Given the description of an element on the screen output the (x, y) to click on. 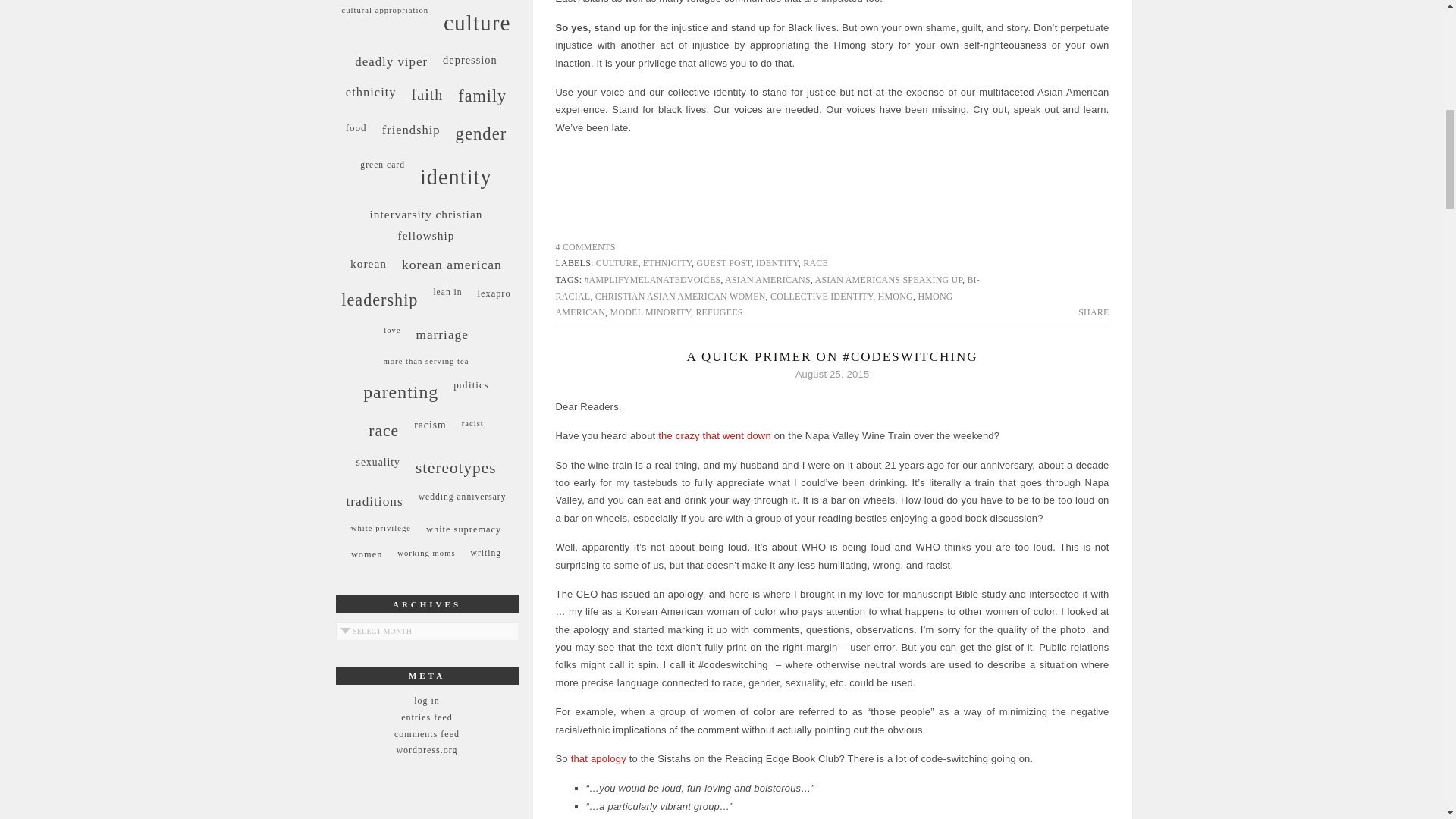
CULTURE (617, 262)
COLLECTIVE IDENTITY (821, 296)
HMONG (894, 296)
GUEST POST (723, 262)
HMONG AMERICAN (753, 304)
ASIAN AMERICANS (767, 279)
the crazy that went down (714, 435)
BI-RACIAL (766, 288)
SHARE (1093, 312)
REFUGEES (718, 312)
RACE (815, 262)
IDENTITY (776, 262)
CHRISTIAN ASIAN AMERICAN WOMEN (680, 296)
that apology (598, 758)
4 COMMENTS (584, 246)
